Given the description of an element on the screen output the (x, y) to click on. 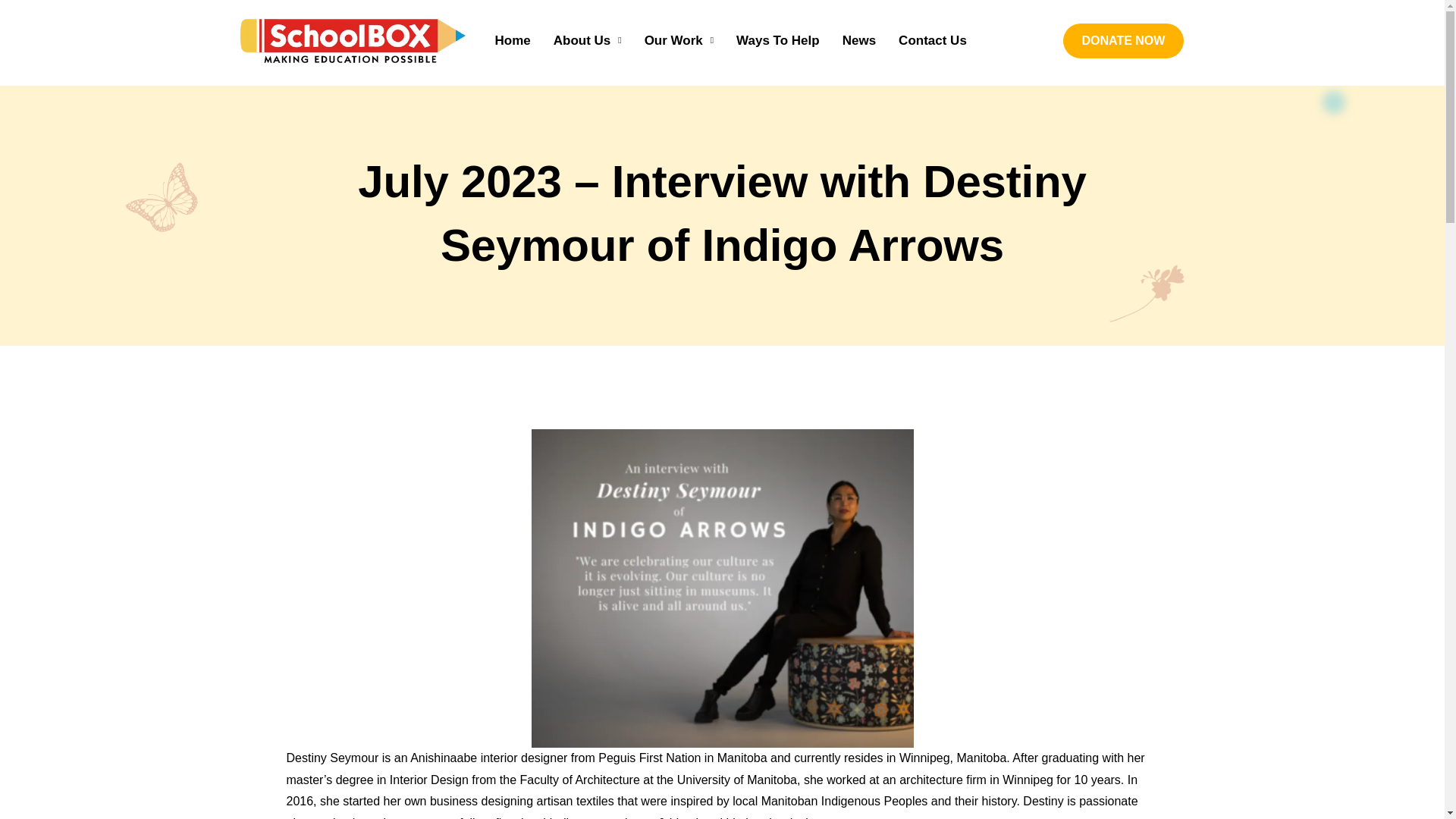
DONATE NOW (1123, 39)
News (858, 11)
Ways To Help (778, 7)
Contact Us (932, 14)
